Given the description of an element on the screen output the (x, y) to click on. 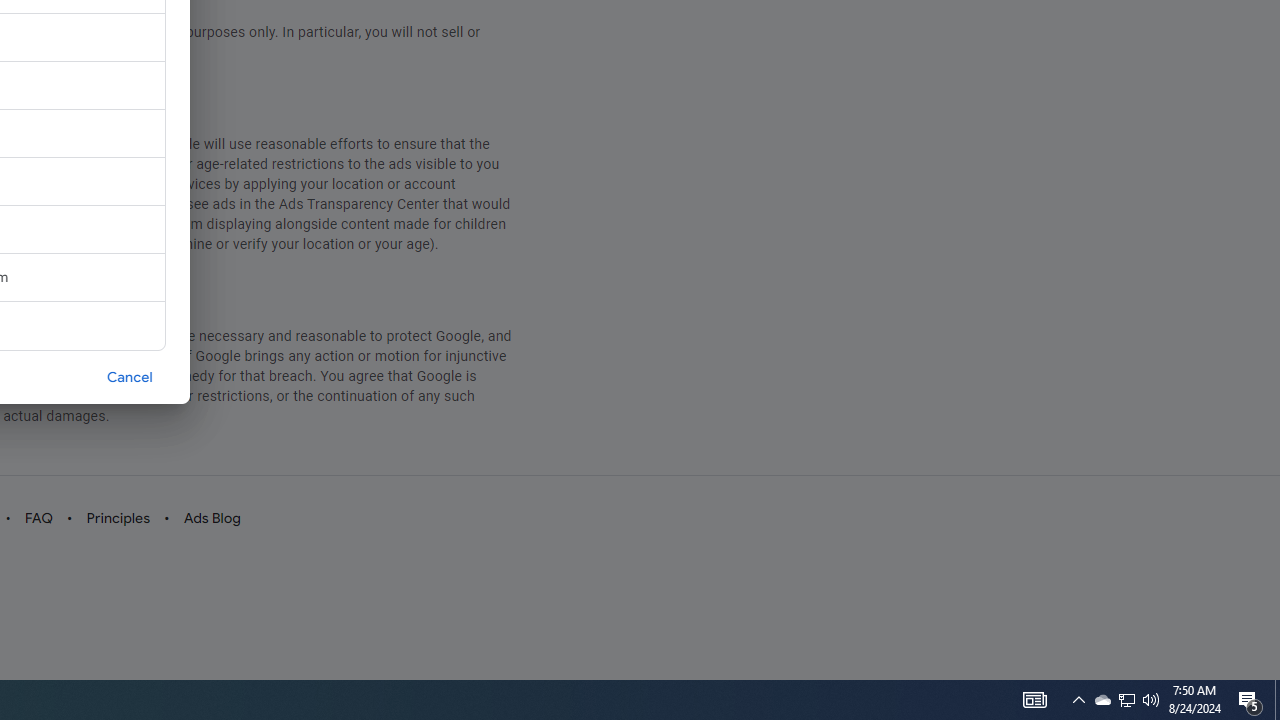
Principles (117, 518)
Cancel (129, 376)
Ads Blog (211, 518)
